Given the description of an element on the screen output the (x, y) to click on. 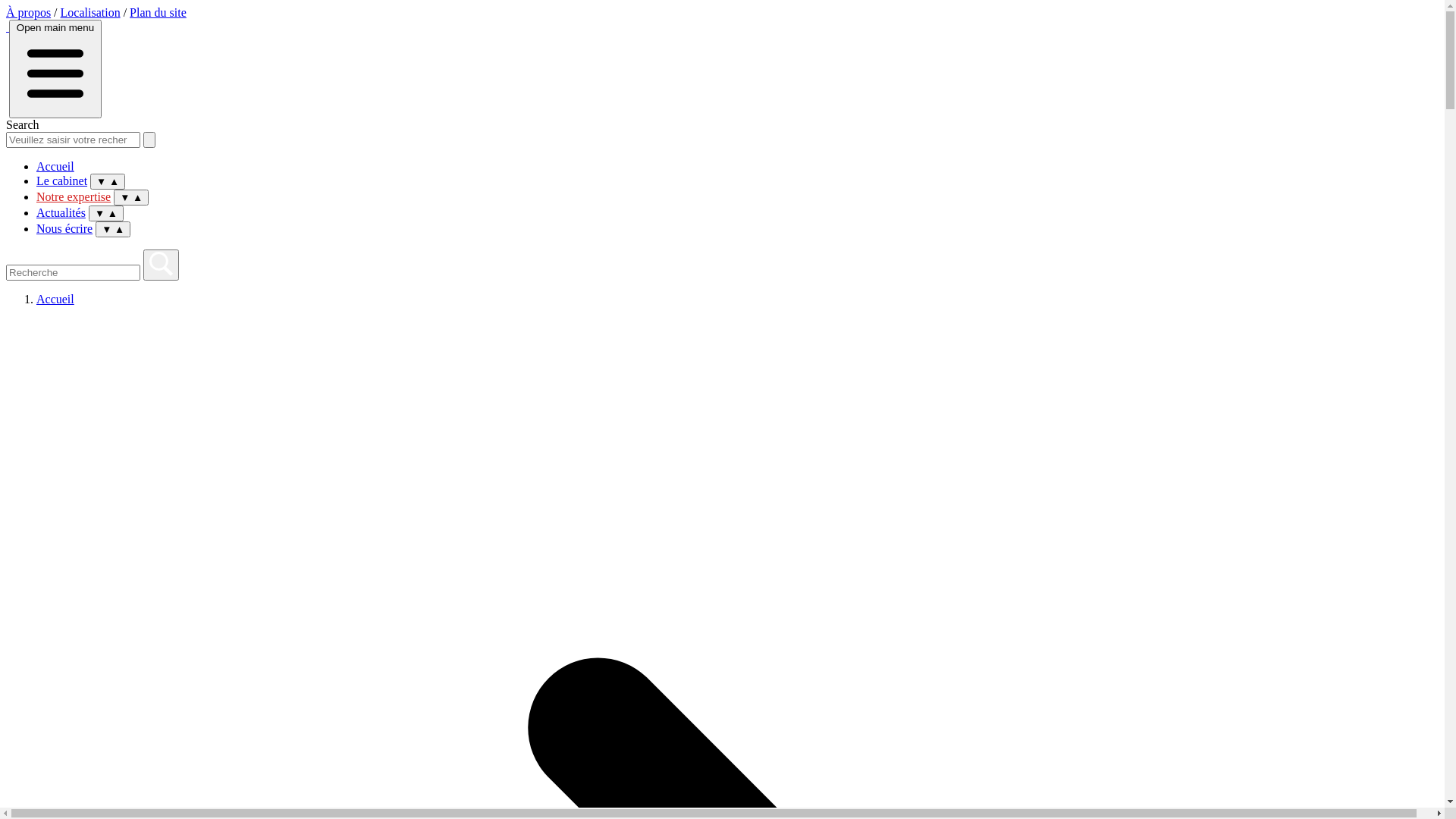
Plan du site Element type: text (157, 12)
Notre expertise Element type: text (73, 198)
Localisation Element type: text (90, 12)
Accueil Element type: text (55, 166)
Accueil Element type: text (55, 298)
Open main menu Element type: text (55, 68)
Le cabinet Element type: text (61, 180)
